Given the description of an element on the screen output the (x, y) to click on. 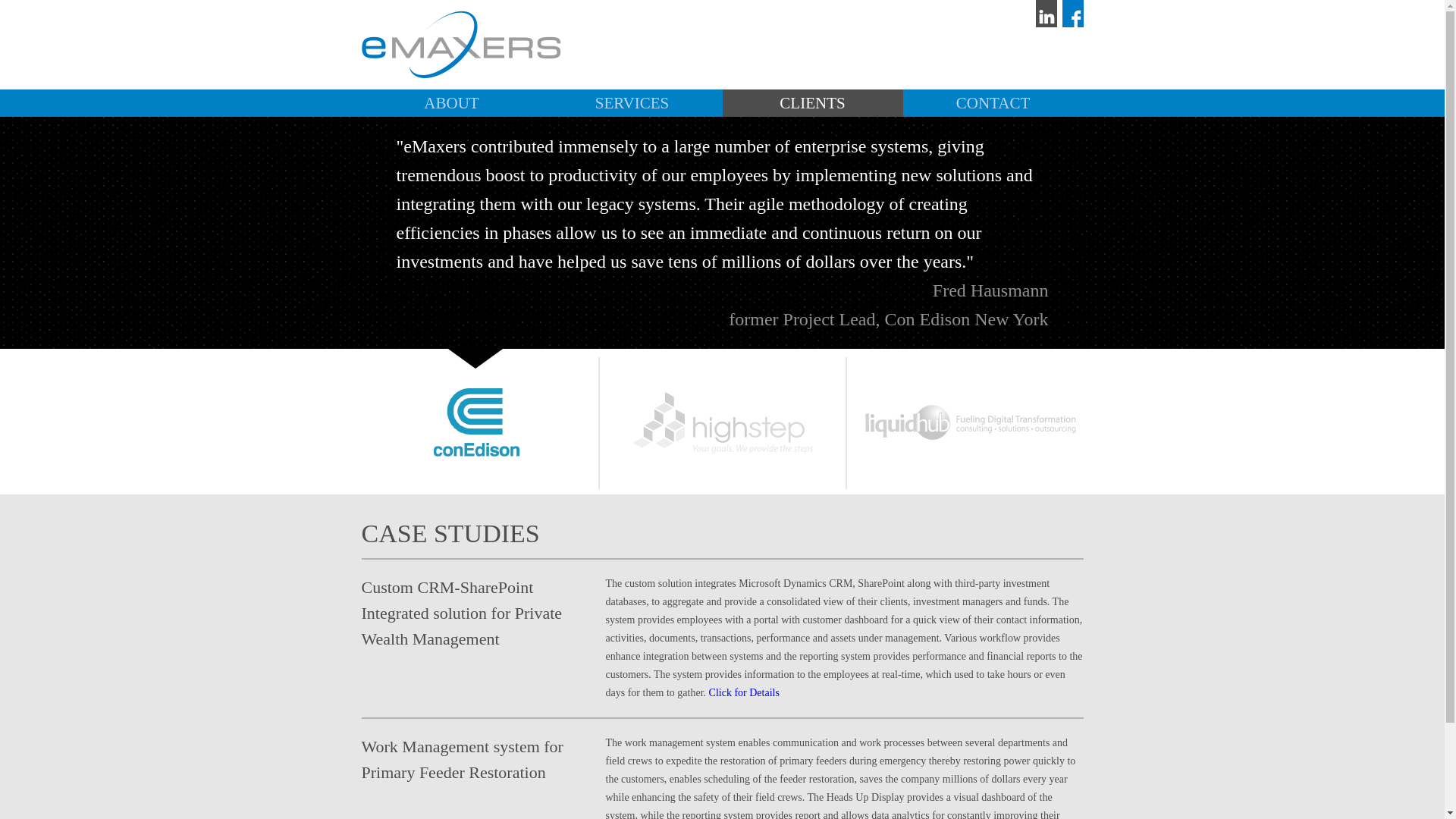
CONTACT (992, 103)
SERVICES (631, 103)
CLIENTS (812, 103)
Click for Details (743, 692)
ABOUT (451, 103)
eMaxers (460, 43)
